Given the description of an element on the screen output the (x, y) to click on. 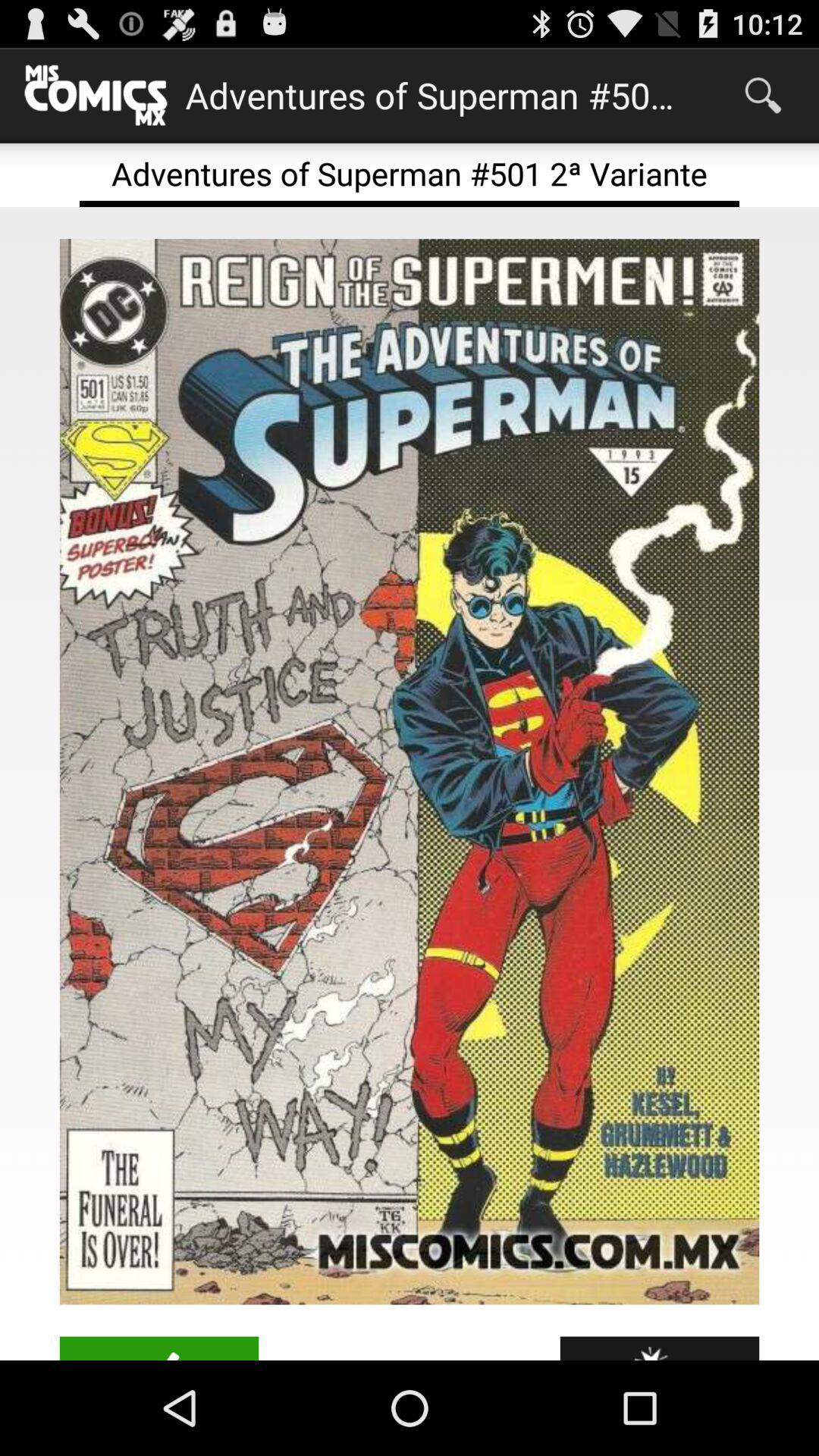
click icon above adventures of superman app (763, 95)
